Given the description of an element on the screen output the (x, y) to click on. 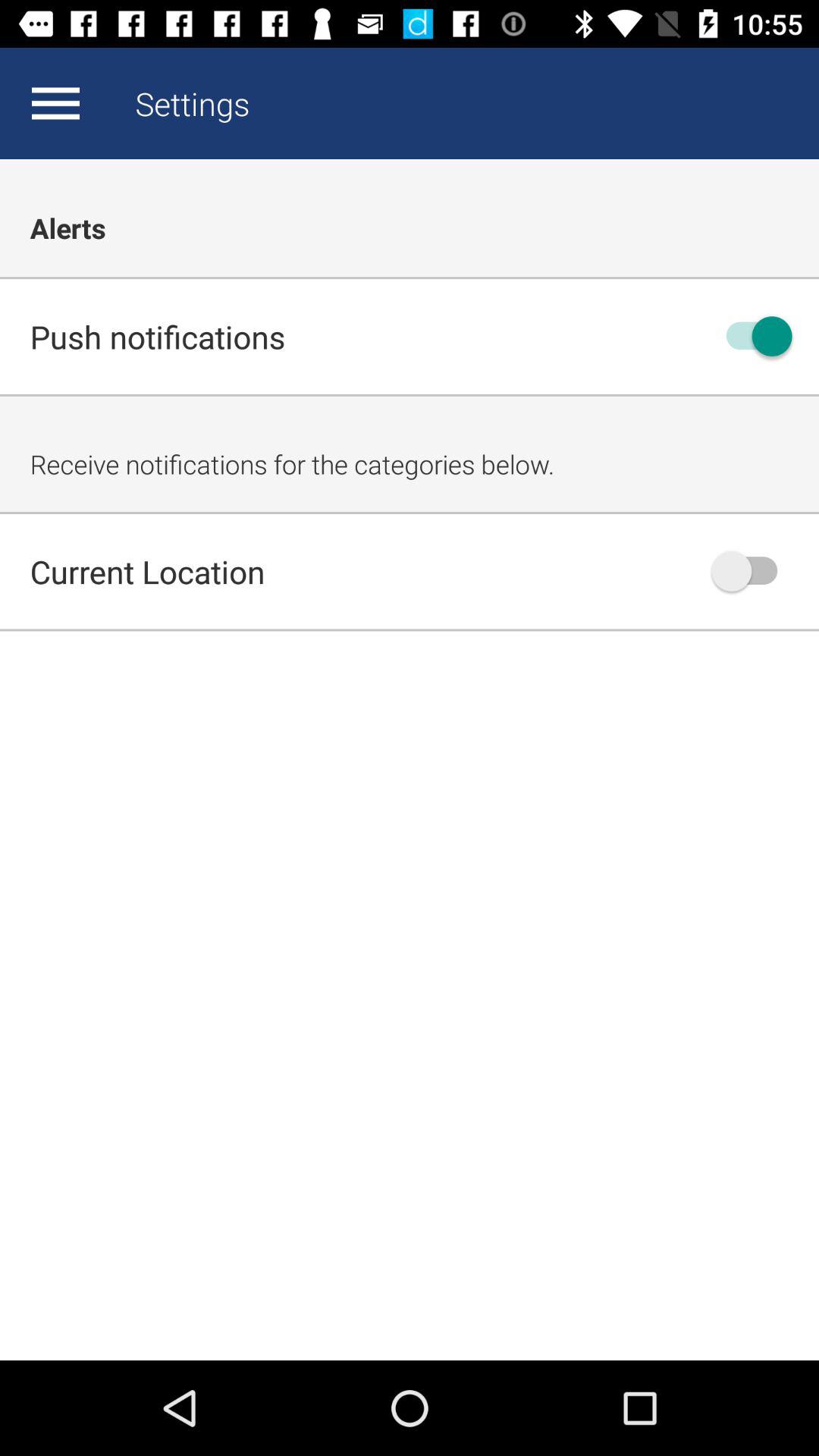
enable current location (751, 571)
